Given the description of an element on the screen output the (x, y) to click on. 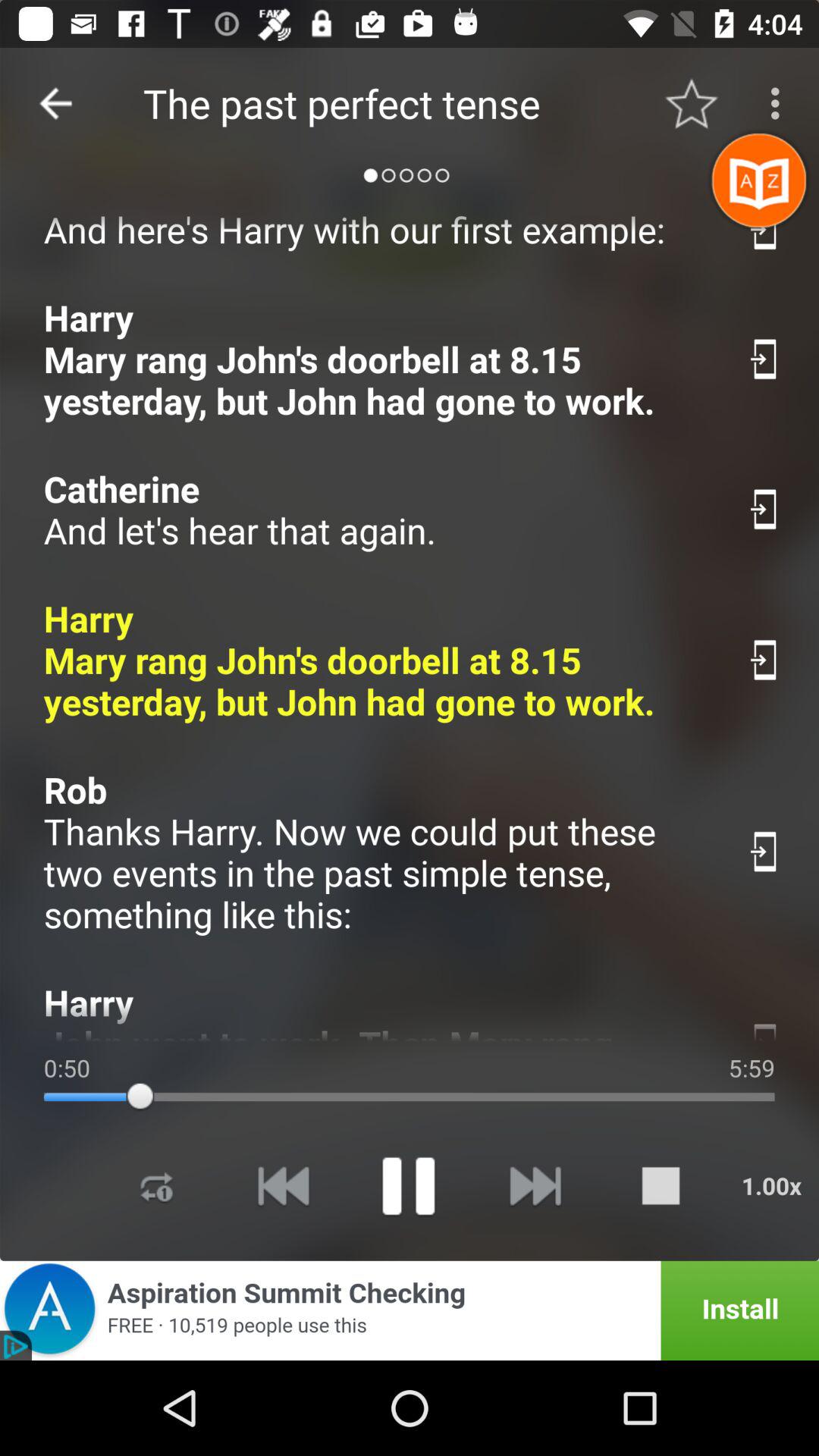
previous song media (282, 1185)
